Given the description of an element on the screen output the (x, y) to click on. 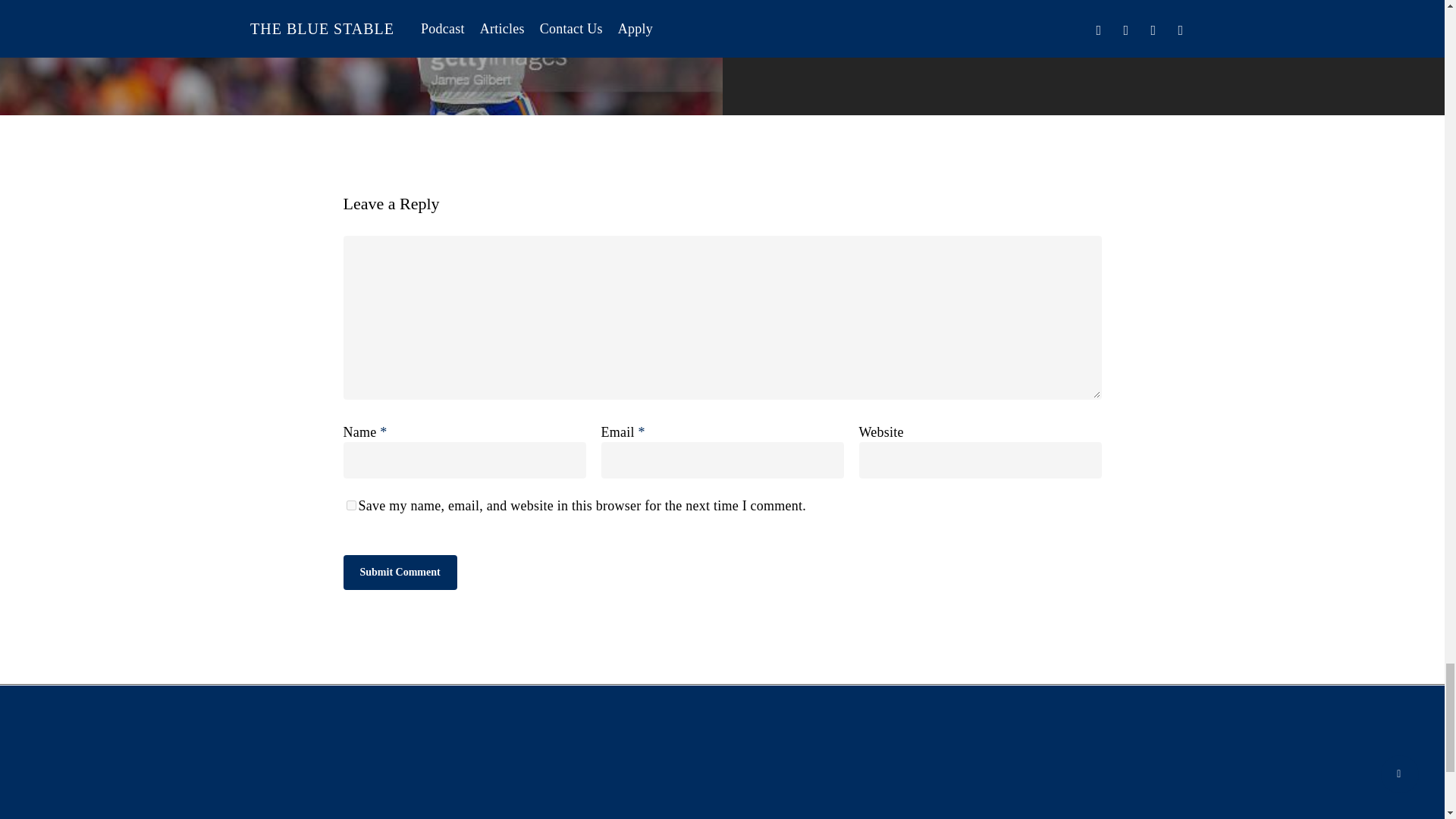
Submit Comment (399, 572)
yes (350, 505)
Submit Comment (399, 572)
